Given the description of an element on the screen output the (x, y) to click on. 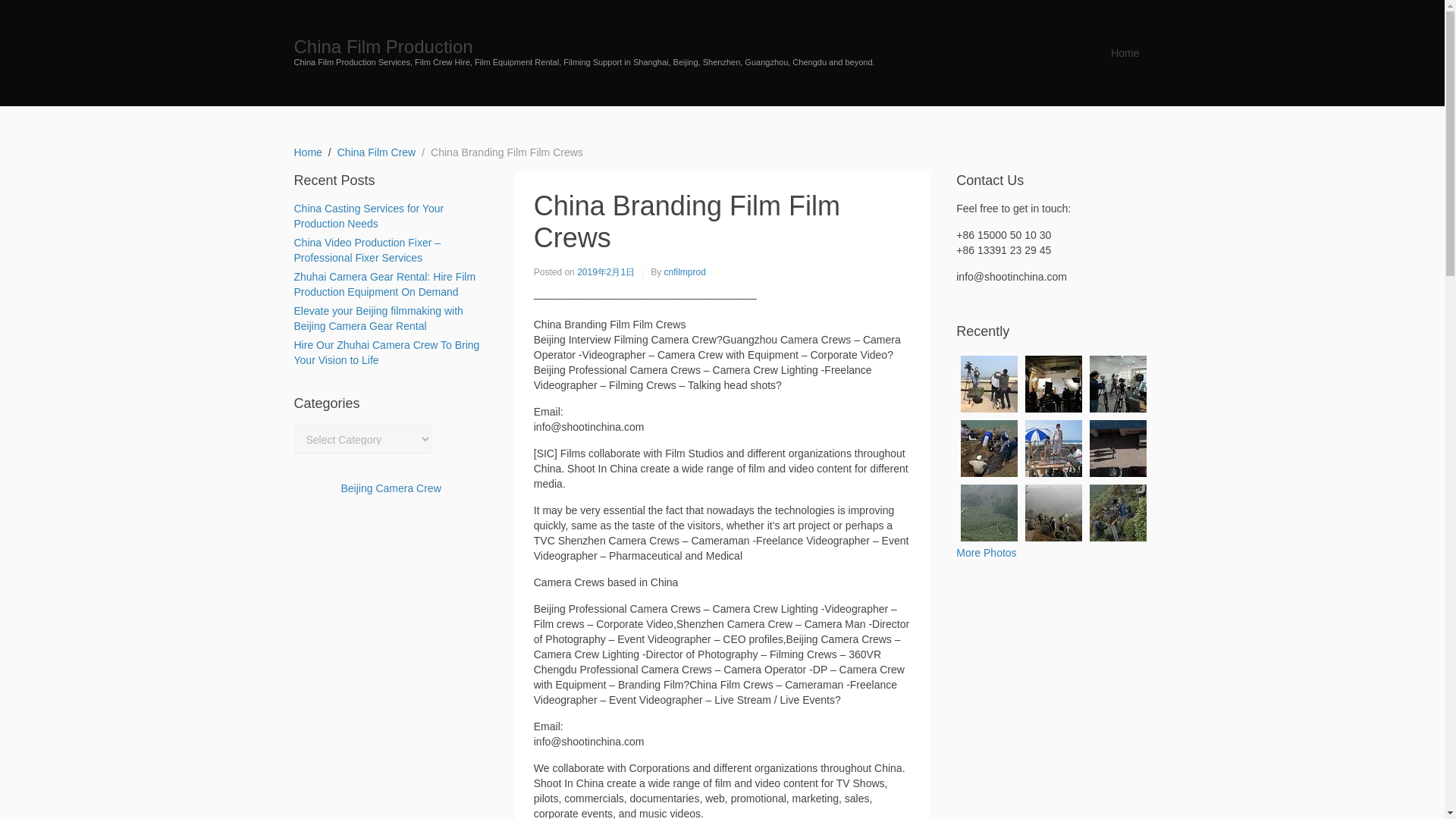
Home (1124, 52)
Kids Walking Alley (1118, 448)
China Casting Services for Your Production Needs (369, 216)
China Film Crew (375, 151)
Hire Our Zhuhai Camera Crew To Bring Your Vision to Life (387, 352)
cnfilmprod (684, 272)
China Film Production (383, 46)
Beijing Camera Crew (390, 488)
More Photos (986, 552)
